Given the description of an element on the screen output the (x, y) to click on. 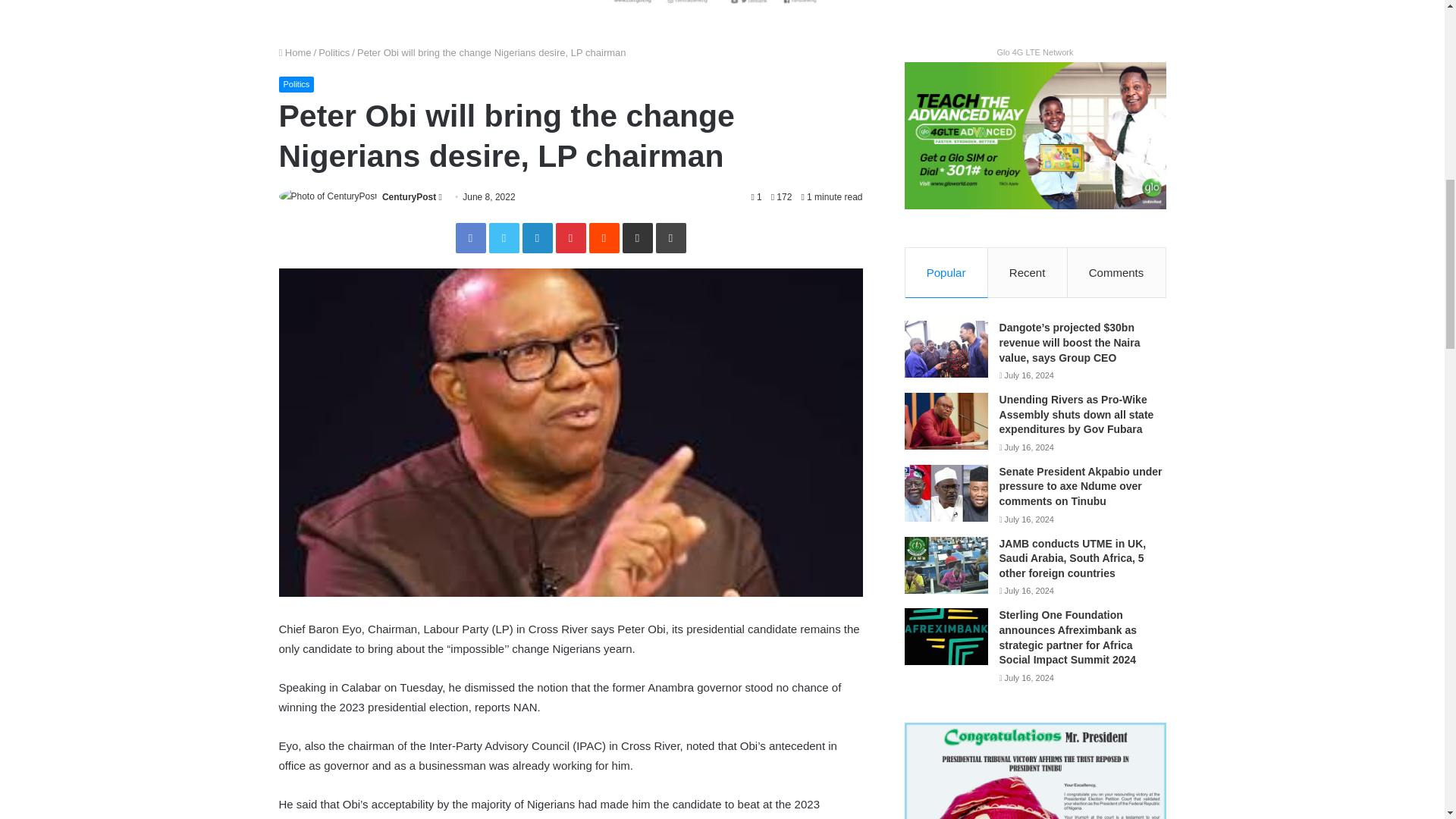
Twitter (502, 237)
LinkedIn (536, 237)
Print (670, 237)
Politics (333, 52)
Politics (296, 83)
CenturyPost (408, 196)
Share via Email (636, 237)
Reddit (603, 237)
Facebook (469, 237)
CenturyPost (408, 196)
 Glo 4G LTE Network  (1035, 52)
Home (295, 52)
Pinterest (569, 237)
